Given the description of an element on the screen output the (x, y) to click on. 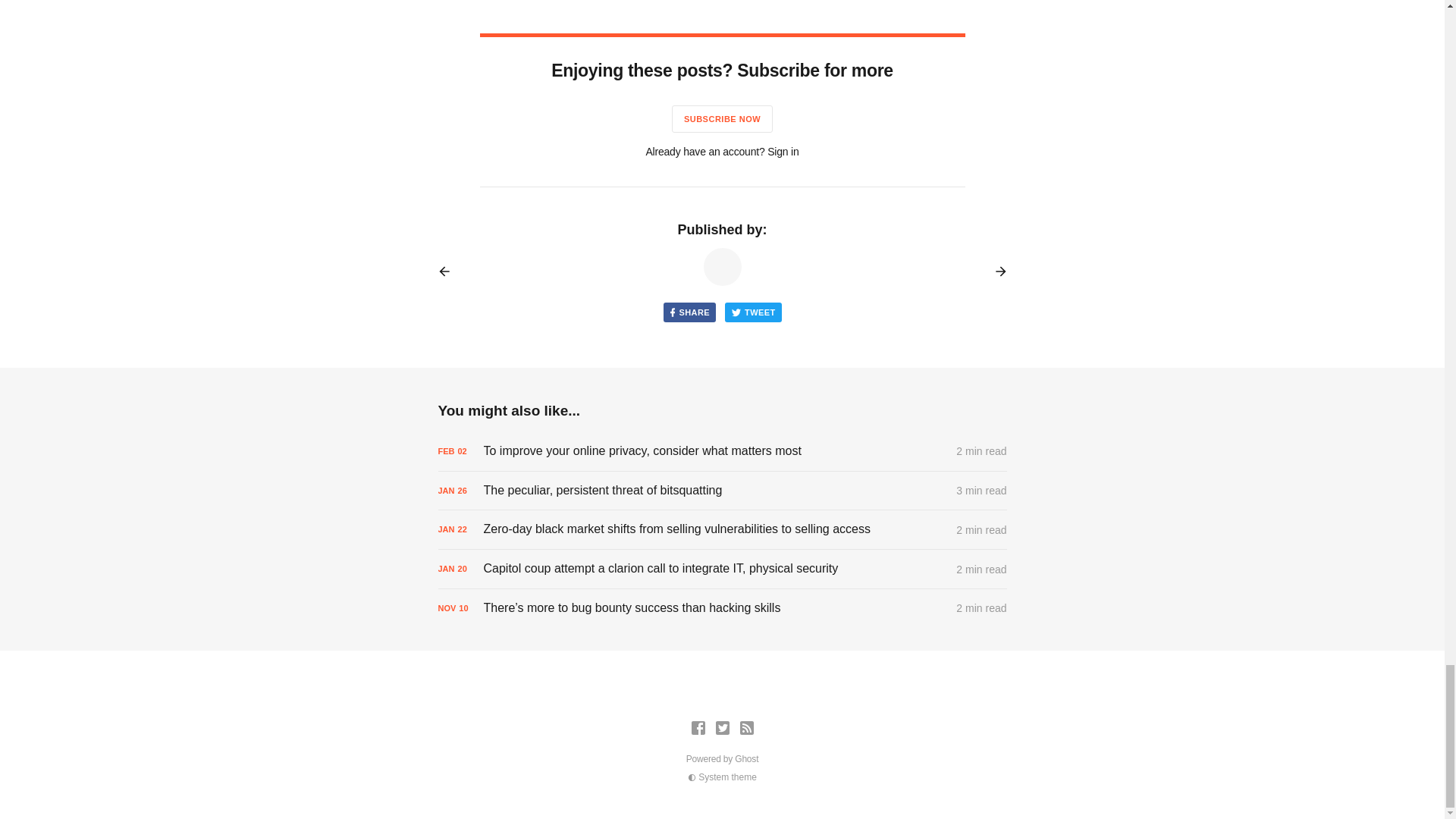
SUBSCRIBE NOW (722, 118)
Already have an account? Sign in (721, 151)
SHARE (689, 312)
